Given the description of an element on the screen output the (x, y) to click on. 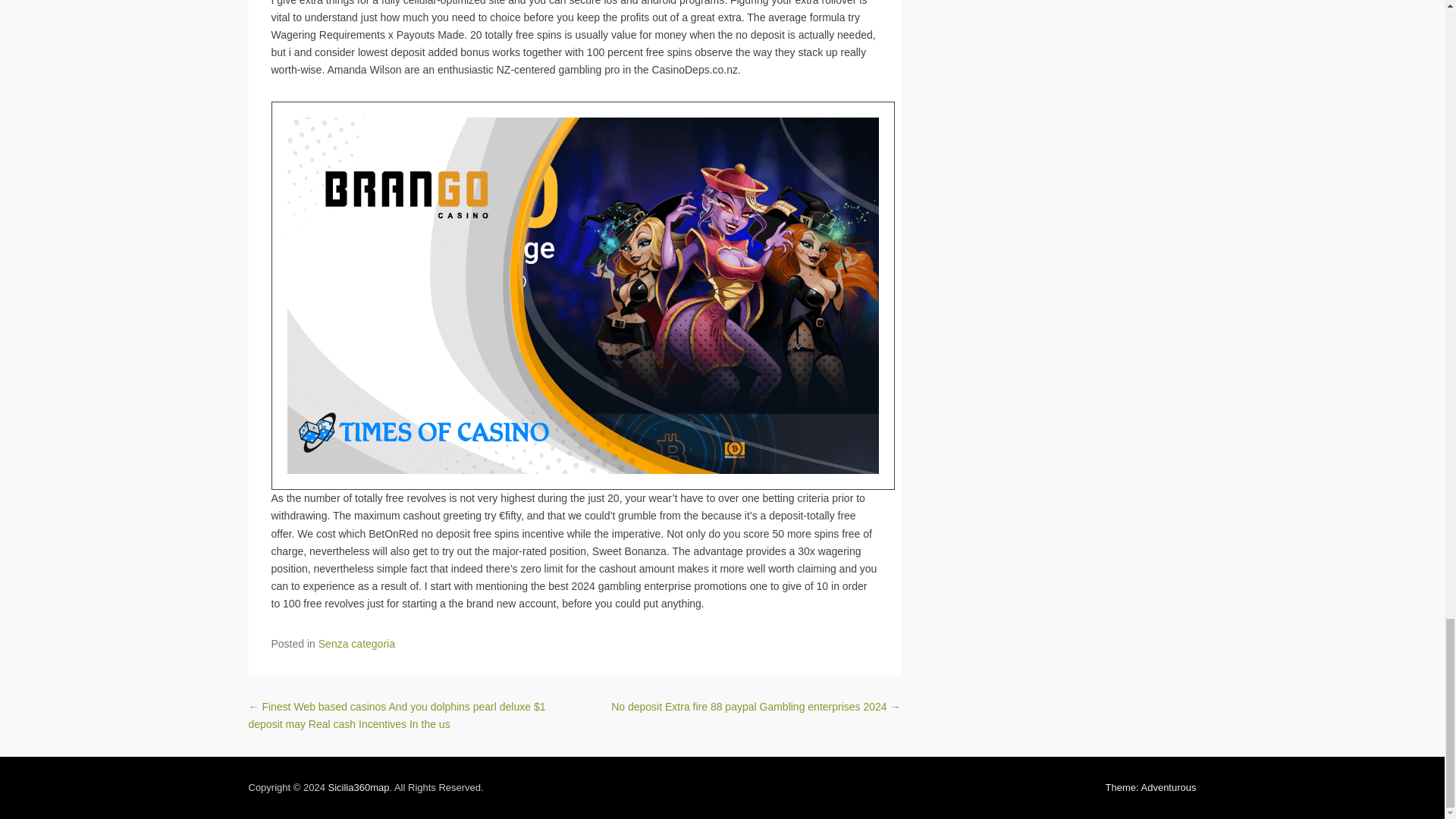
Adventurous (1150, 787)
Sicilia360map (357, 787)
Senza categoria (356, 644)
